Given the description of an element on the screen output the (x, y) to click on. 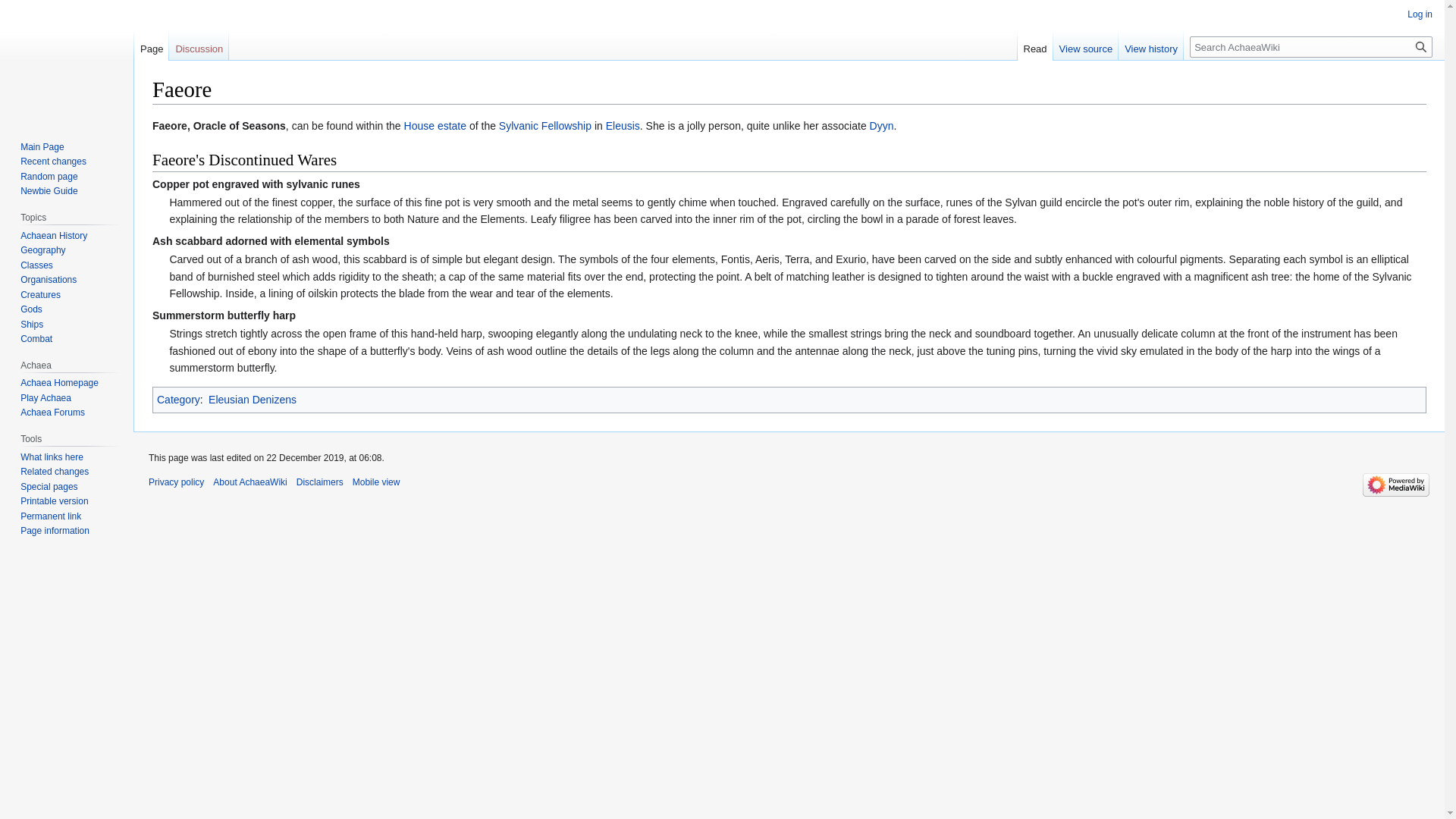
Special pages (48, 486)
Dyyn (881, 125)
Search (1420, 46)
Permanent link (50, 516)
Random page (48, 176)
Search (1420, 46)
Discussion (198, 45)
Log in (1419, 14)
Eleusian Denizens (252, 399)
